Given the description of an element on the screen output the (x, y) to click on. 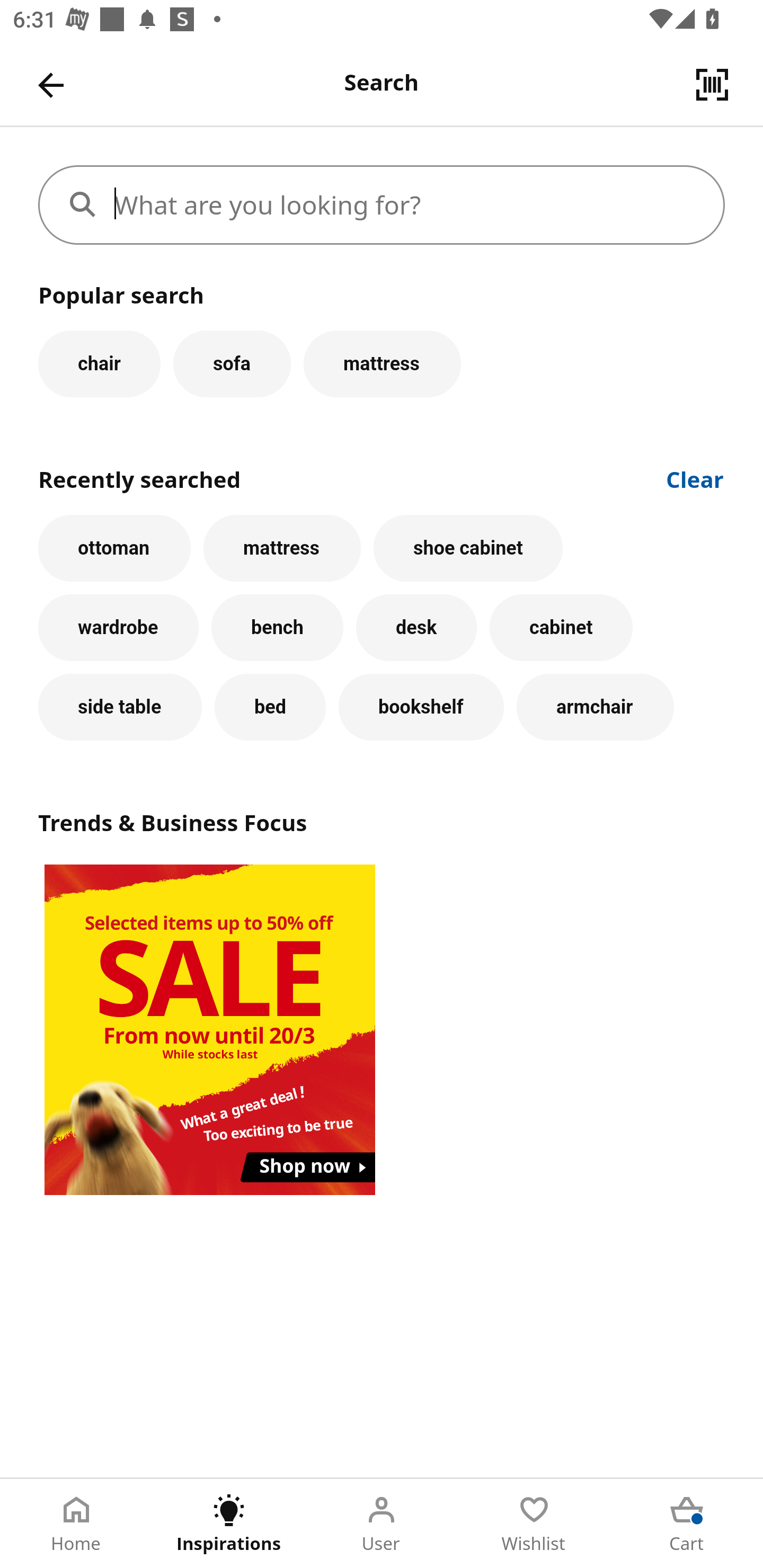
chair (99, 363)
sofa (231, 363)
mattress (381, 363)
Clear (695, 477)
ottoman (114, 547)
mattress (281, 547)
shoe cabinet (468, 547)
wardrobe (118, 627)
bench (277, 627)
desk (416, 627)
cabinet (560, 627)
side table (120, 707)
bed (269, 707)
bookshelf (420, 707)
armchair (594, 707)
Home
Tab 1 of 5 (76, 1522)
Inspirations
Tab 2 of 5 (228, 1522)
User
Tab 3 of 5 (381, 1522)
Wishlist
Tab 4 of 5 (533, 1522)
Cart
Tab 5 of 5 (686, 1522)
